Given the description of an element on the screen output the (x, y) to click on. 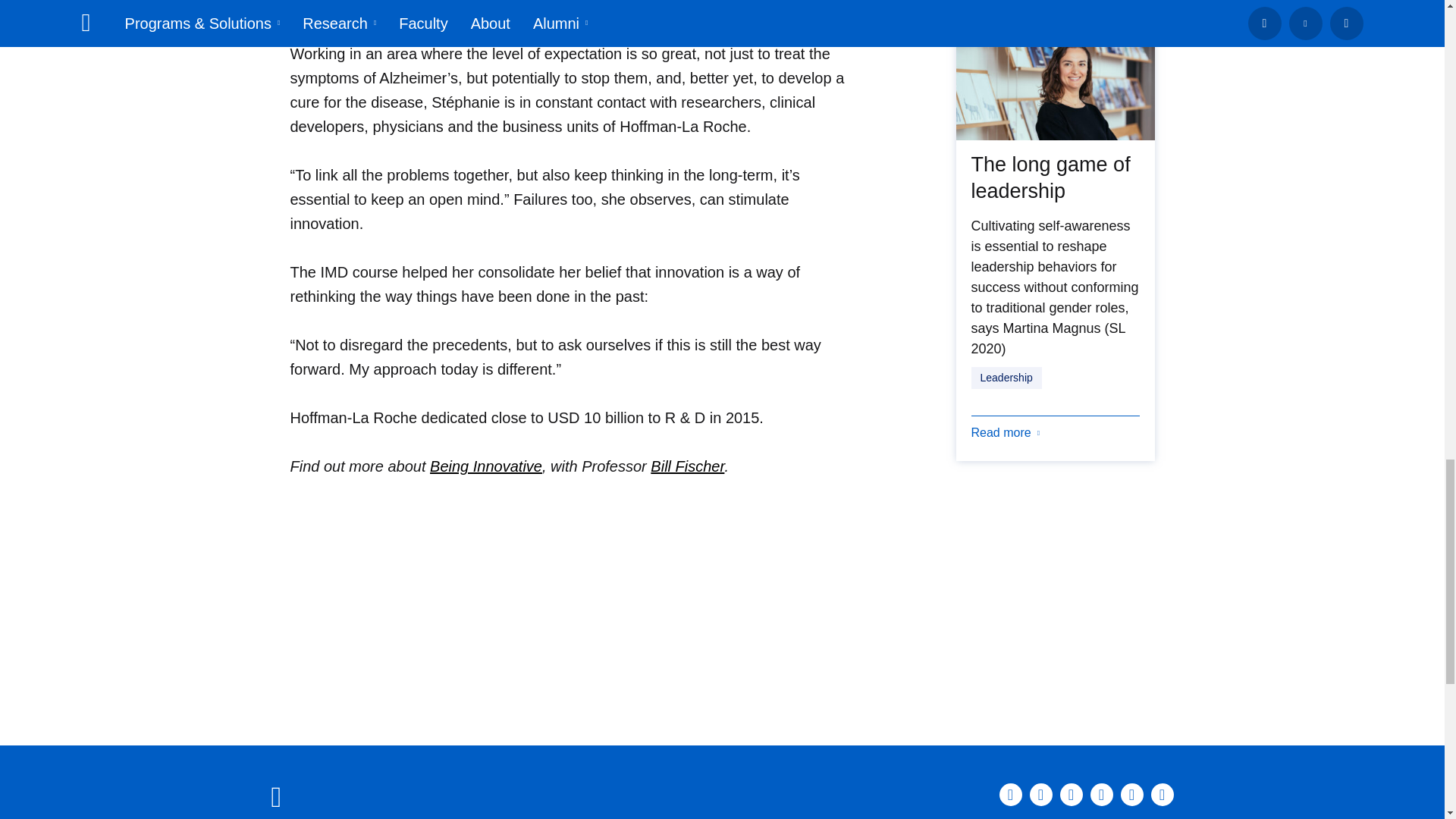
Flickr (1162, 793)
Instagram (1071, 793)
Twitter (1101, 793)
LinkedIn (1010, 793)
Facebook (1040, 793)
YouTube (1131, 793)
